Given the description of an element on the screen output the (x, y) to click on. 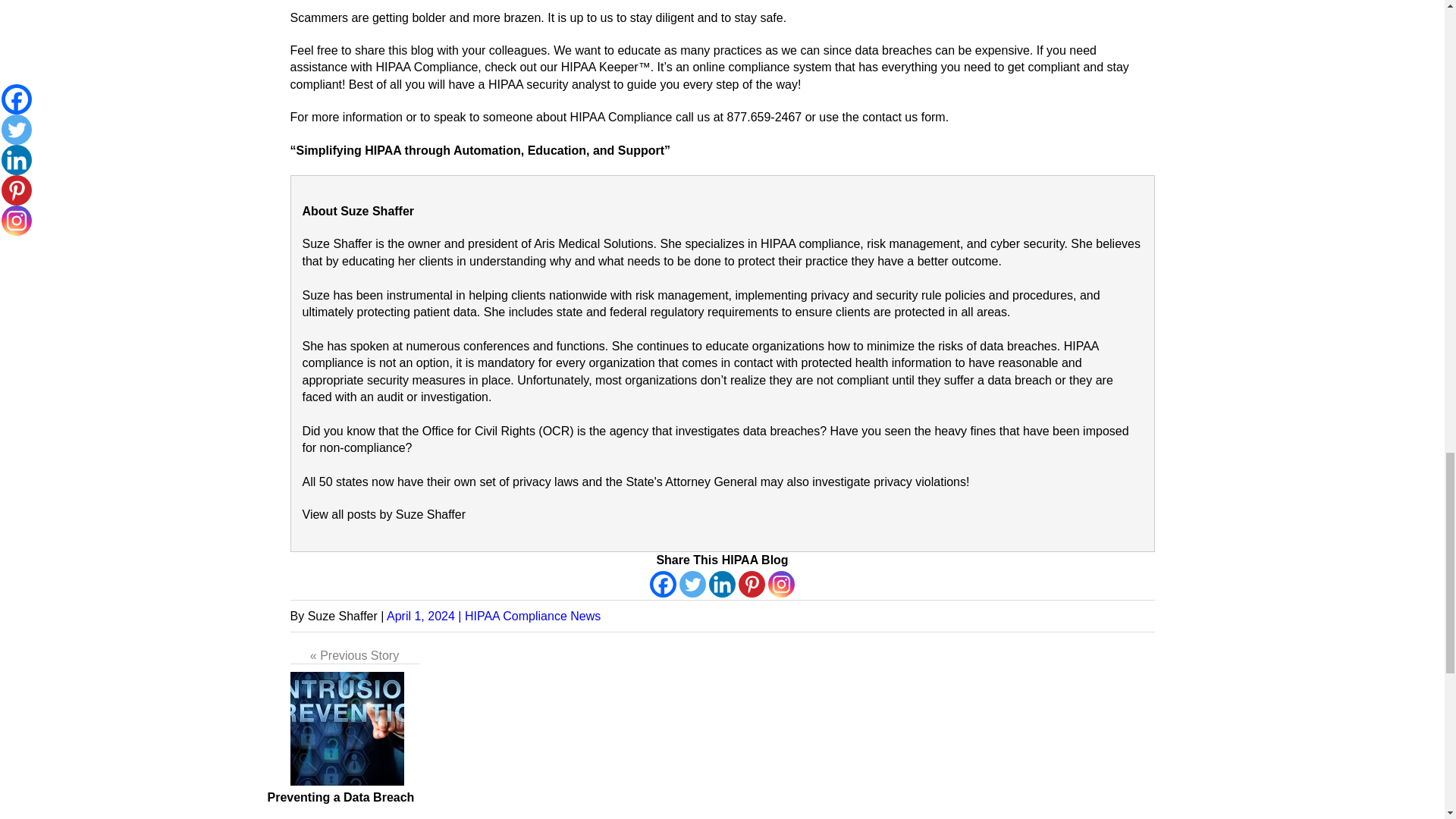
Linkedin (722, 583)
Pinterest (751, 583)
Instagram (781, 583)
Facebook (663, 583)
Twitter (692, 583)
